Given the description of an element on the screen output the (x, y) to click on. 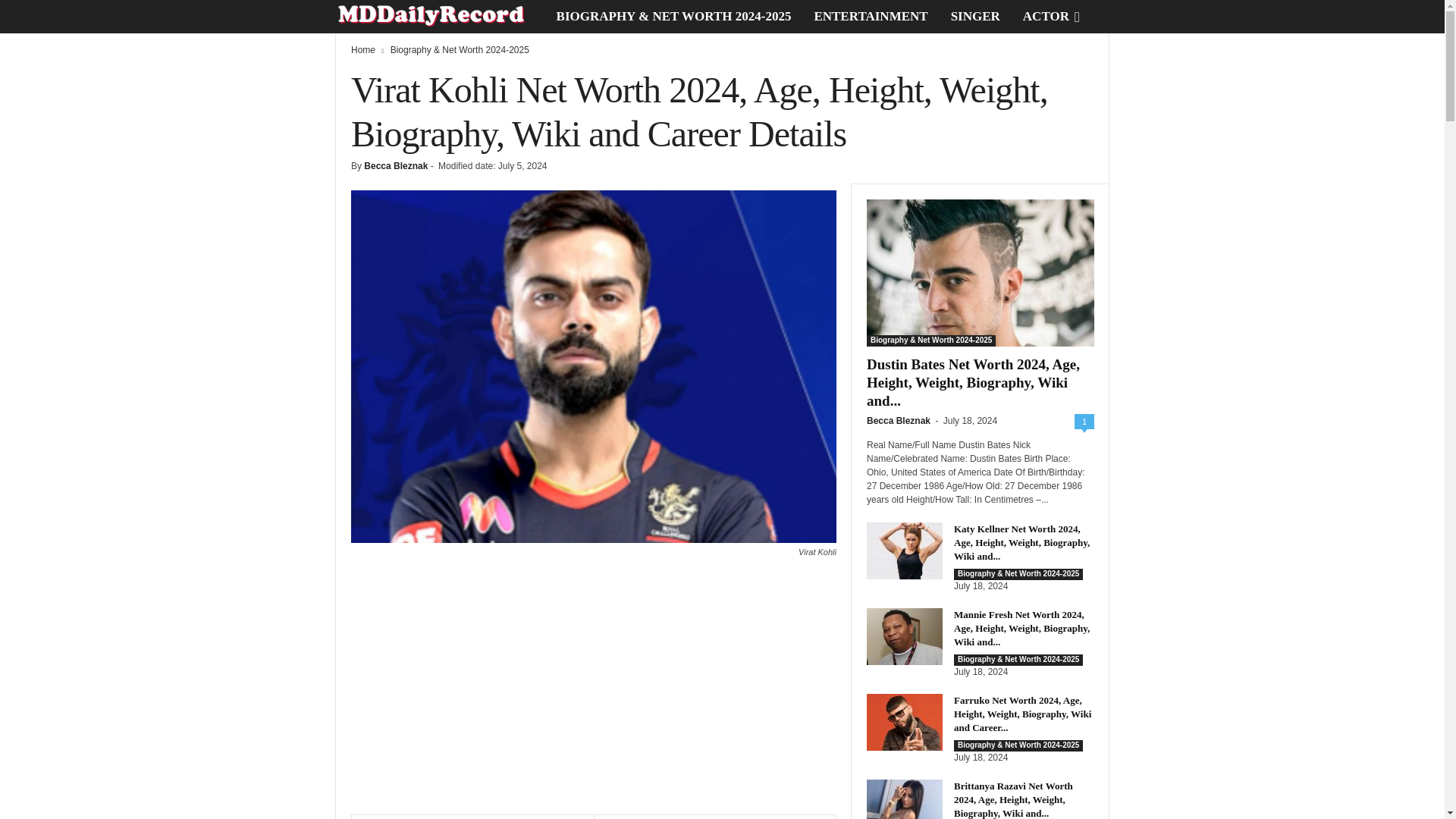
ENTERTAINMENT (870, 16)
ACTOR (1045, 16)
SINGER (975, 16)
Advertisement (592, 693)
Becca Bleznak (396, 165)
Home (362, 50)
MD Daily Record (439, 16)
